Given the description of an element on the screen output the (x, y) to click on. 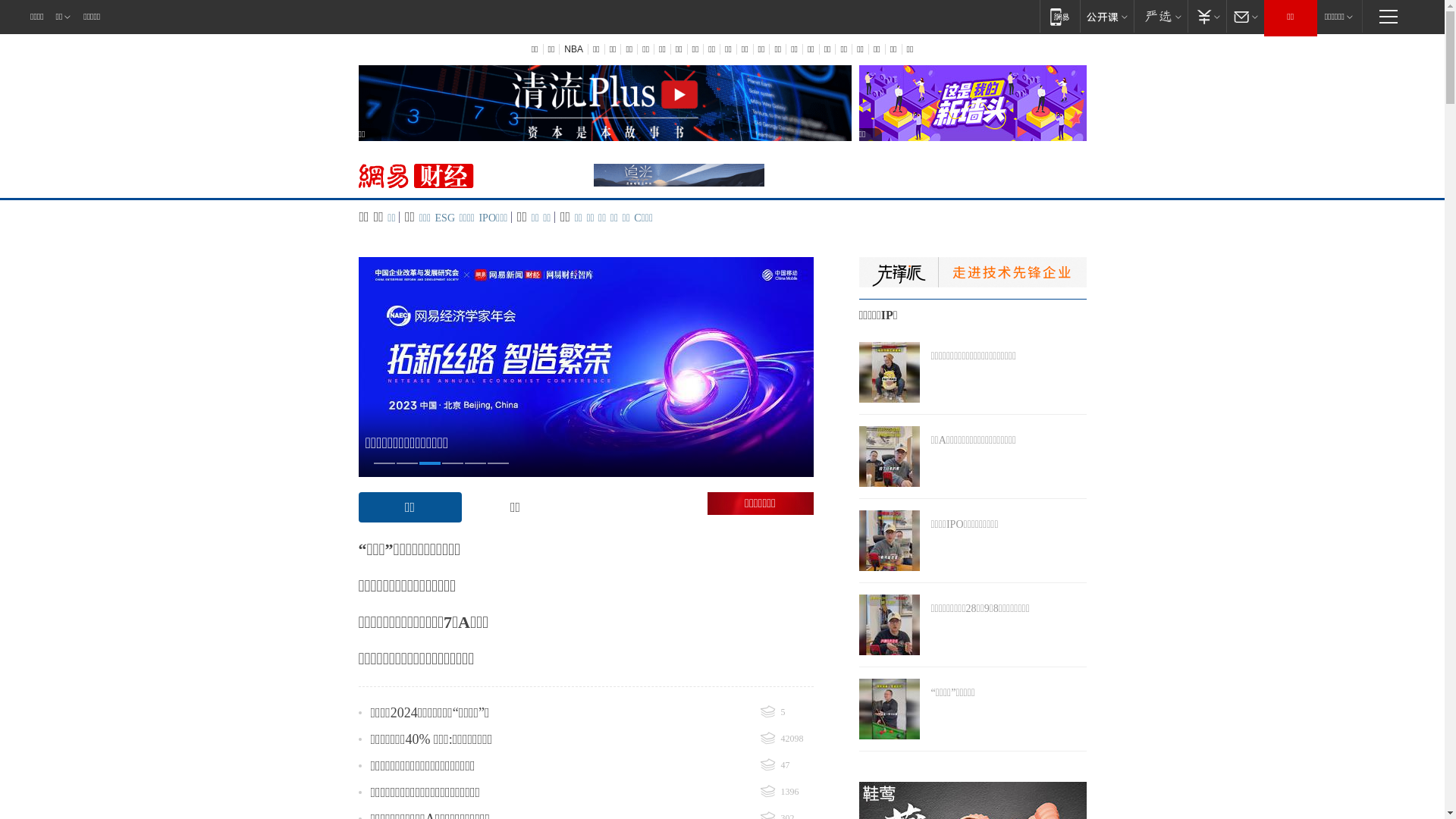
42098 Element type: text (785, 738)
NBA Element type: text (572, 48)
5 Element type: text (785, 712)
1396 Element type: text (785, 792)
ESG Element type: text (444, 217)
47 Element type: text (785, 765)
